Given the description of an element on the screen output the (x, y) to click on. 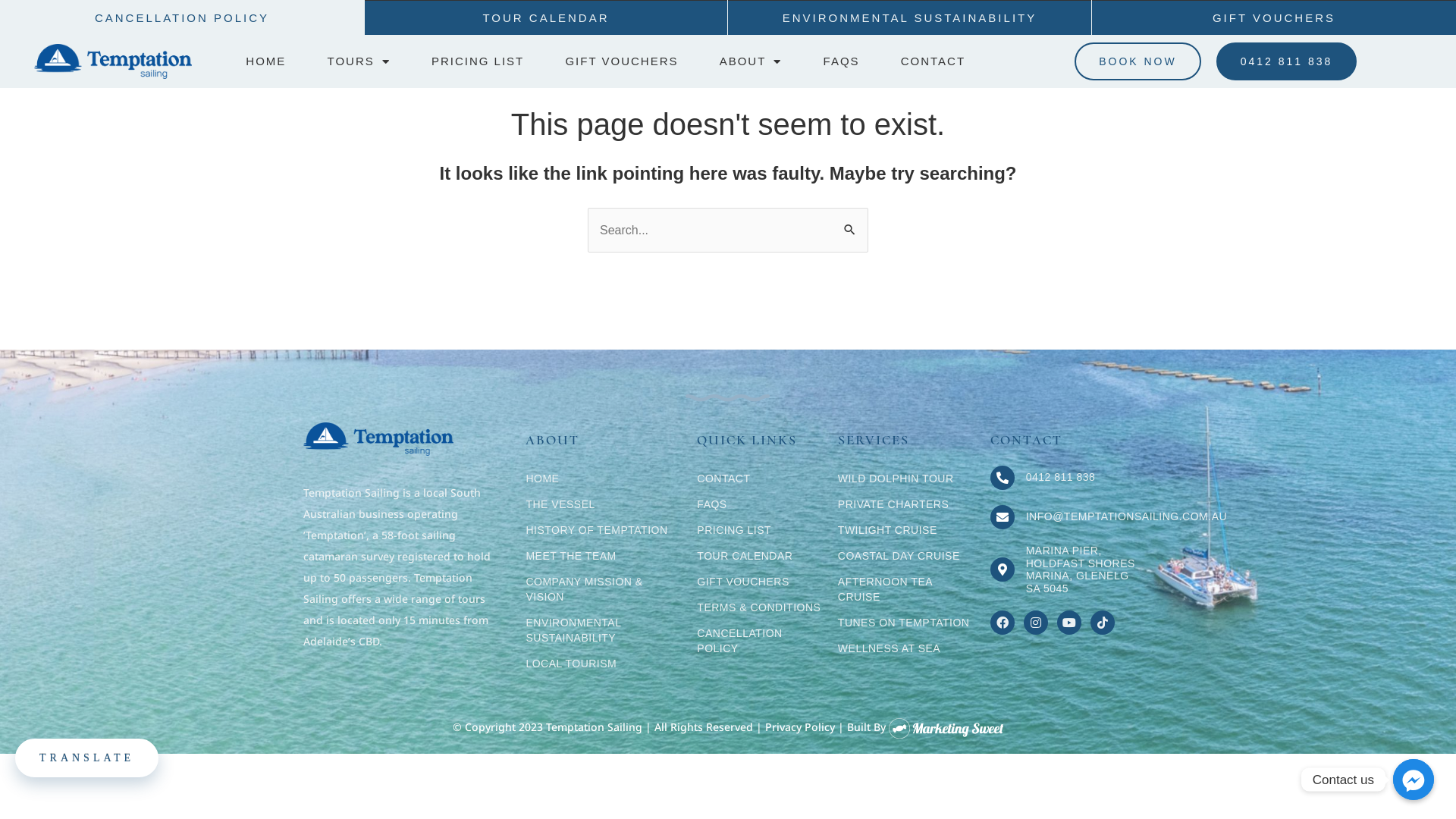
CANCELLATION POLICY Element type: text (759, 640)
THE VESSEL Element type: text (603, 504)
TWILIGHT CRUISE Element type: text (906, 529)
PRICING LIST Element type: text (759, 529)
GIFT VOUCHERS Element type: text (759, 581)
0412 811 838 Element type: text (1286, 61)
FAQS Element type: text (759, 504)
FAQS Element type: text (841, 61)
WILD DOLPHIN TOUR Element type: text (906, 478)
PRICING LIST Element type: text (477, 61)
0412 811 838 Element type: text (1060, 476)
Youtube Element type: text (1069, 622)
MEET THE TEAM Element type: text (603, 555)
CONTACT Element type: text (933, 61)
PRIVATE CHARTERS Element type: text (906, 504)
HOME Element type: text (265, 61)
LOCAL TOURISM Element type: text (603, 663)
TUNES ON TEMPTATION Element type: text (906, 622)
BOOK NOW Element type: text (1137, 61)
CANCELLATION POLICY Element type: text (182, 17)
TOUR CALENDAR Element type: text (759, 555)
Tiktok Element type: text (1102, 622)
AFTERNOON TEA CRUISE Element type: text (906, 588)
GIFT VOUCHERS Element type: text (621, 61)
ENVIRONMENTAL SUSTAINABILITY Element type: text (603, 629)
TOURS Element type: text (358, 61)
HISTORY OF TEMPTATION Element type: text (603, 529)
Facebook Element type: text (1002, 622)
WELLNESS AT SEA Element type: text (906, 648)
INFO@TEMPTATIONSAILING.COM.AU Element type: text (1126, 516)
TOUR CALENDAR Element type: text (545, 17)
CONTACT Element type: text (759, 478)
TERMS & CONDITIONS Element type: text (759, 607)
MARINA PIER, HOLDFAST SHORES MARINA, GLENELG SA 5045 Element type: text (1080, 569)
Search Element type: text (851, 223)
Contact us Element type: text (1413, 779)
Instagram Element type: text (1035, 622)
COASTAL DAY CRUISE Element type: text (906, 555)
COMPANY MISSION & VISION Element type: text (603, 588)
ABOUT Element type: text (750, 61)
HOME Element type: text (603, 478)
ENVIRONMENTAL SUSTAINABILITY Element type: text (909, 17)
